Given the description of an element on the screen output the (x, y) to click on. 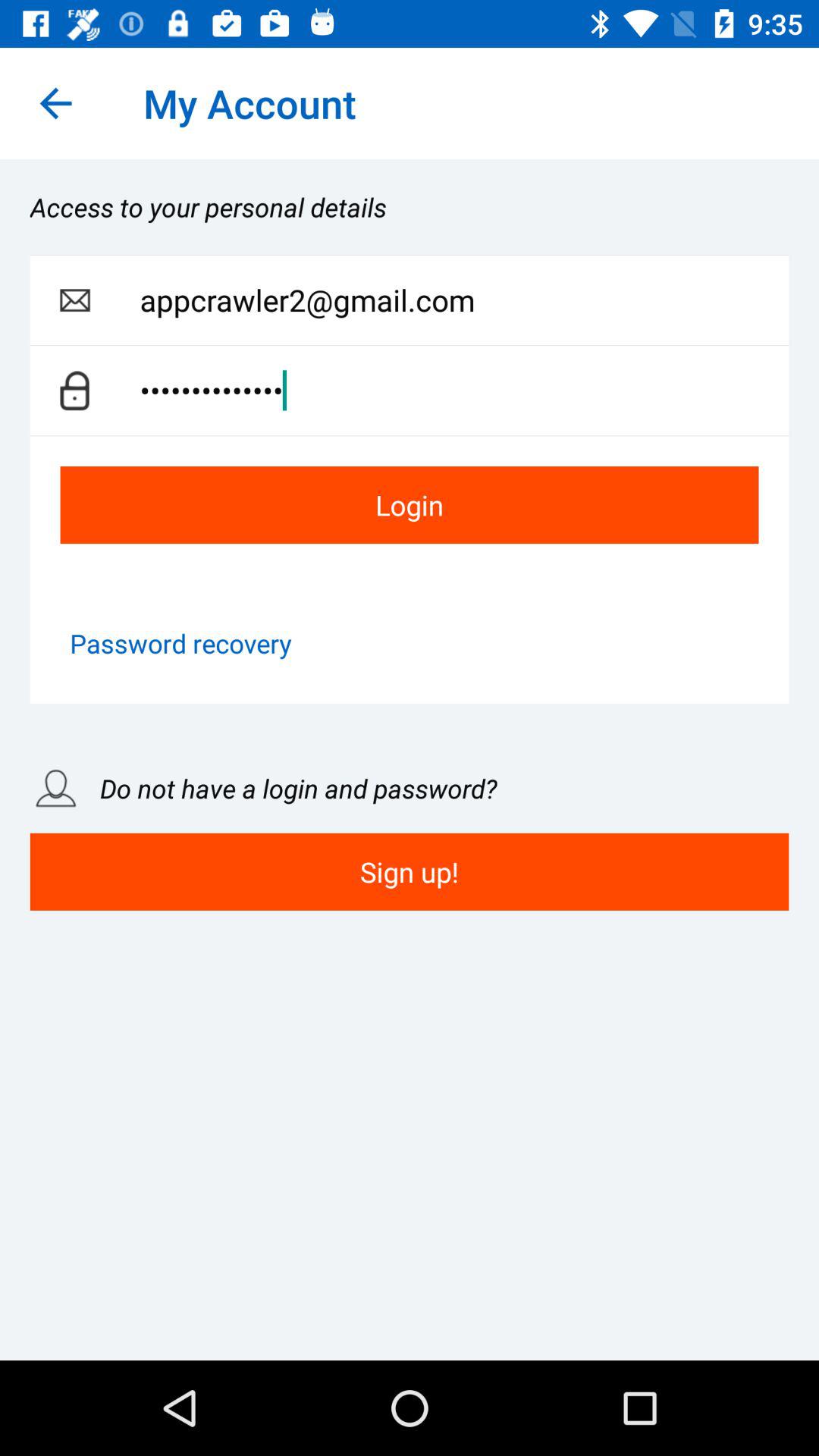
launch the item above the access to your item (55, 103)
